Given the description of an element on the screen output the (x, y) to click on. 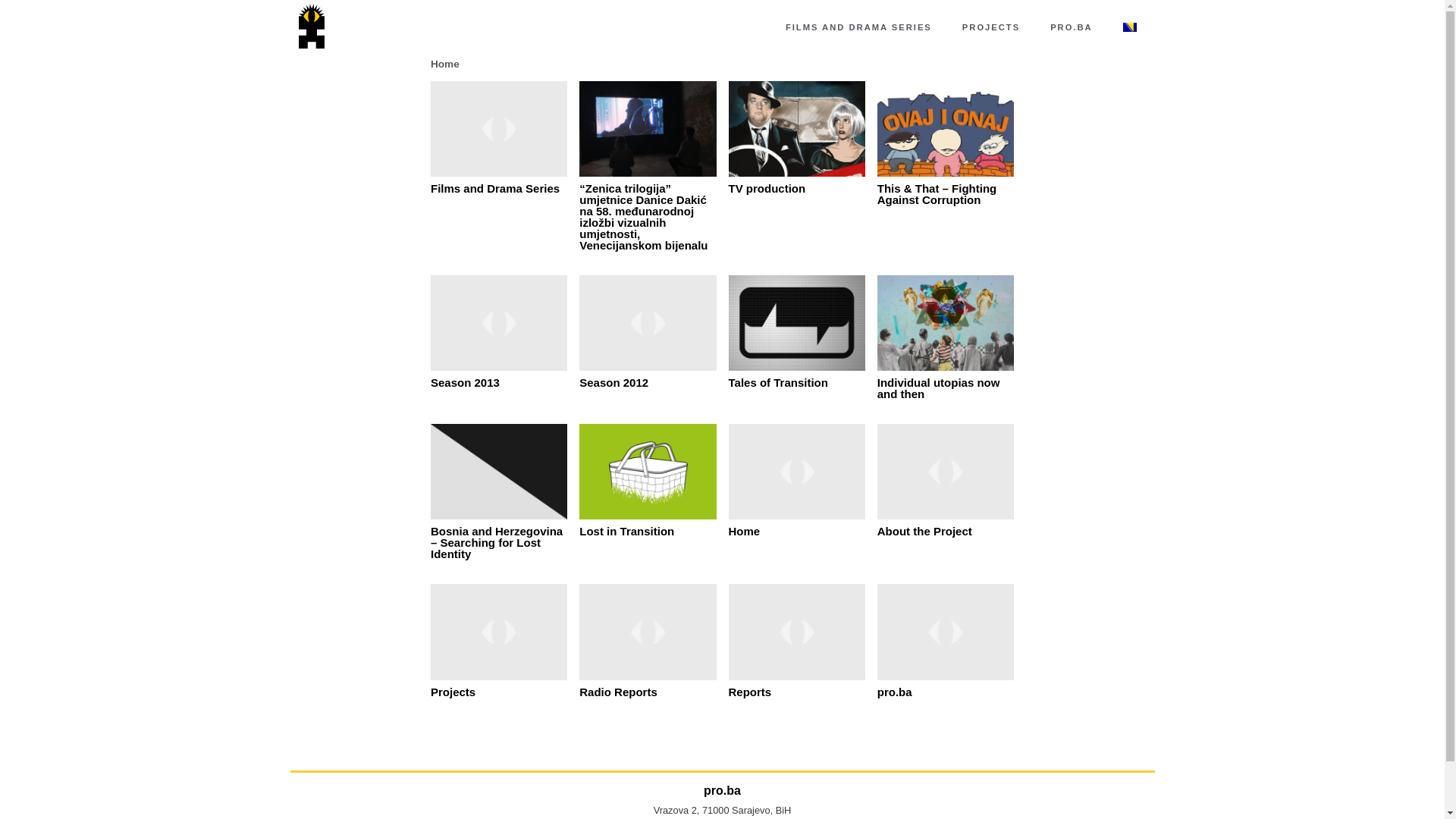
Season 2013 Element type: text (464, 382)
Lost in Transition Element type: text (626, 530)
pro.ba Element type: text (721, 790)
Films and Drama Series Element type: text (494, 188)
Projects Element type: text (452, 691)
Home Element type: text (444, 63)
PROJECTS Element type: text (991, 26)
Season 2012 Element type: text (613, 382)
About the Project Element type: text (924, 530)
TV production Element type: text (766, 188)
PRO.BA Element type: text (1071, 26)
Home Element type: text (743, 530)
Reports Element type: text (749, 691)
Tales of Transition Element type: text (777, 382)
Individual utopias now and then Element type: text (938, 388)
FILMS AND DRAMA SERIES Element type: text (858, 26)
pro.ba Element type: text (894, 691)
Radio Reports Element type: text (618, 691)
